Given the description of an element on the screen output the (x, y) to click on. 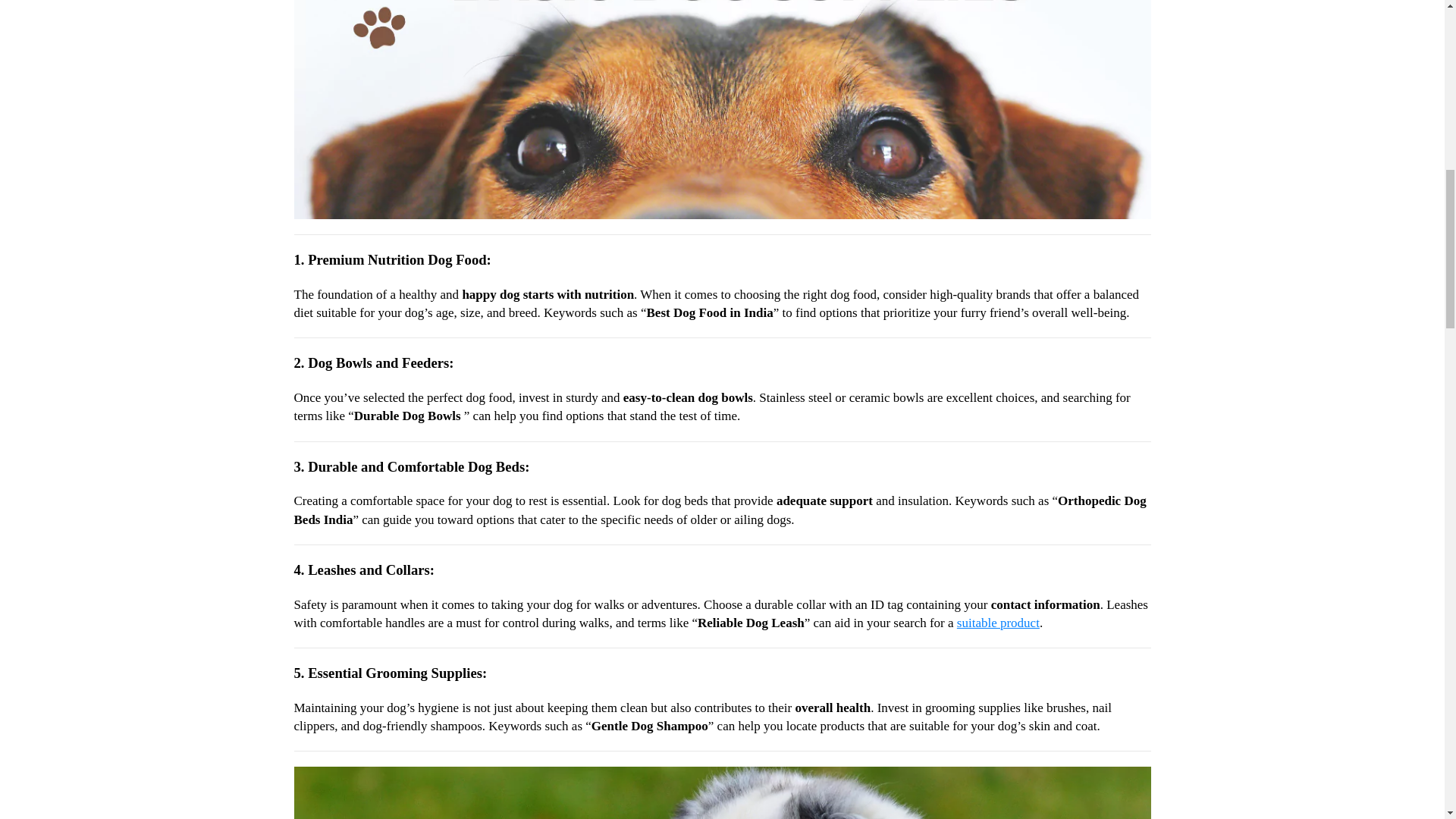
suitable product (997, 622)
